Given the description of an element on the screen output the (x, y) to click on. 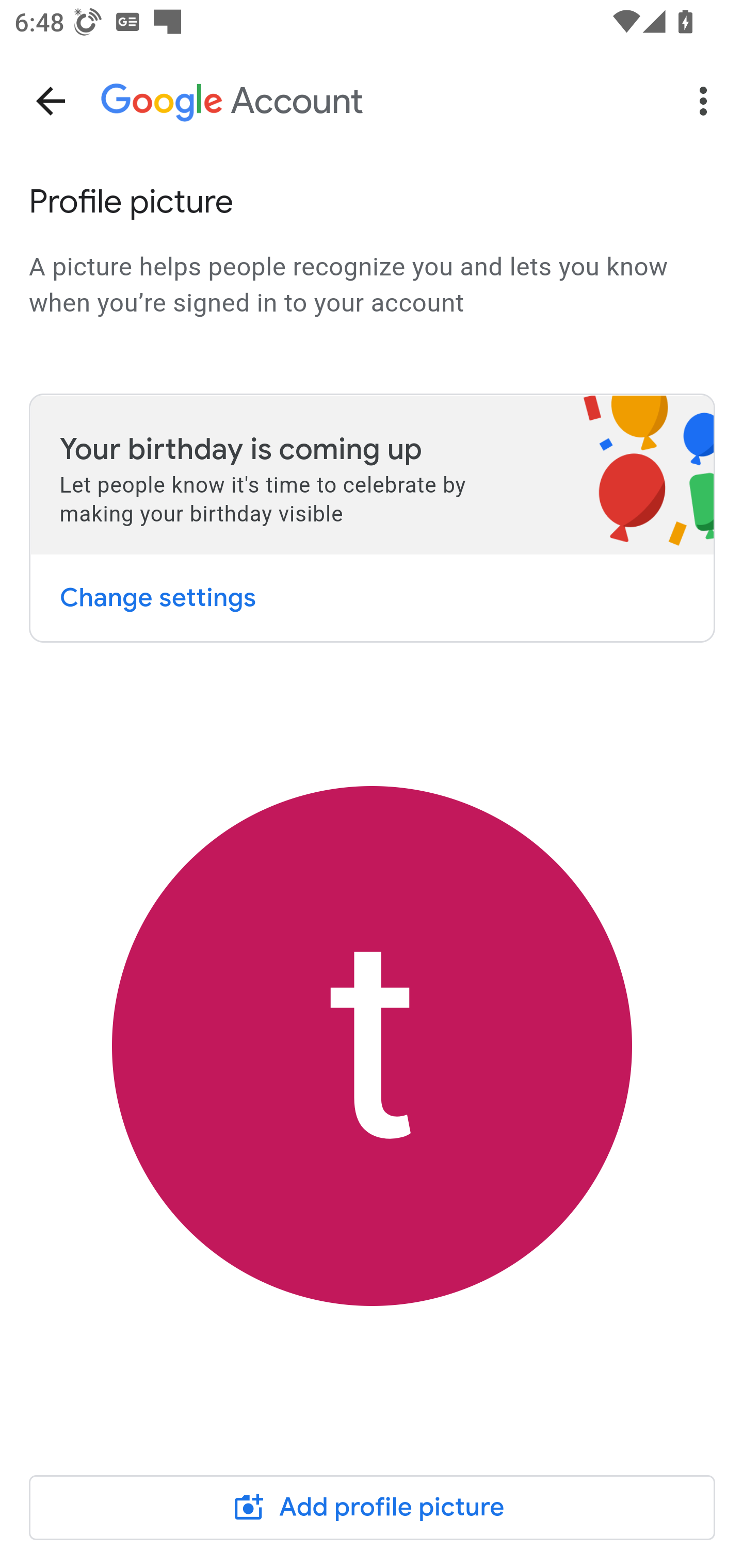
Navigate up (50, 101)
More options (706, 101)
Change settings (157, 596)
Add profile picture (372, 1506)
